Given the description of an element on the screen output the (x, y) to click on. 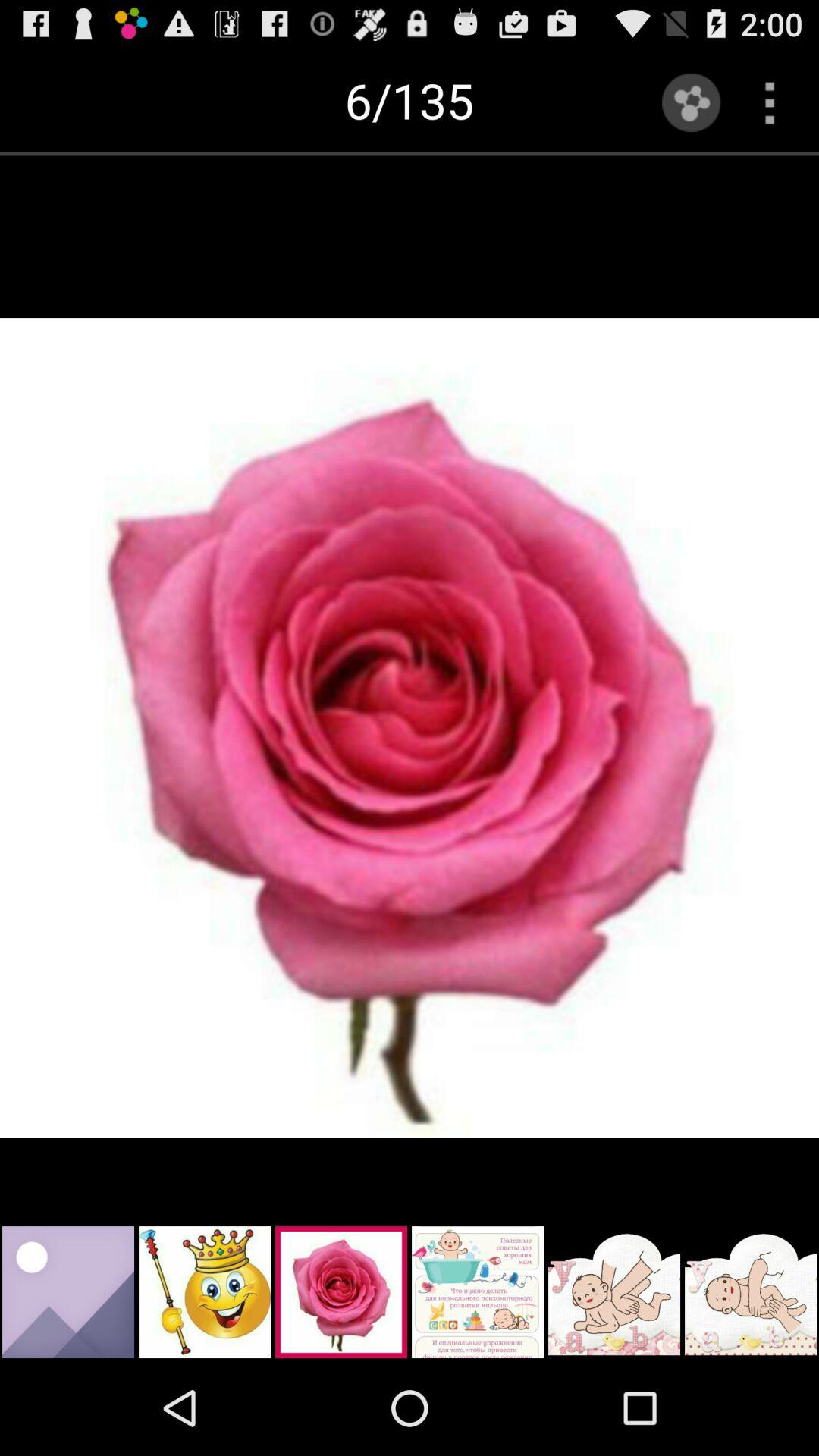
apps (769, 102)
